Given the description of an element on the screen output the (x, y) to click on. 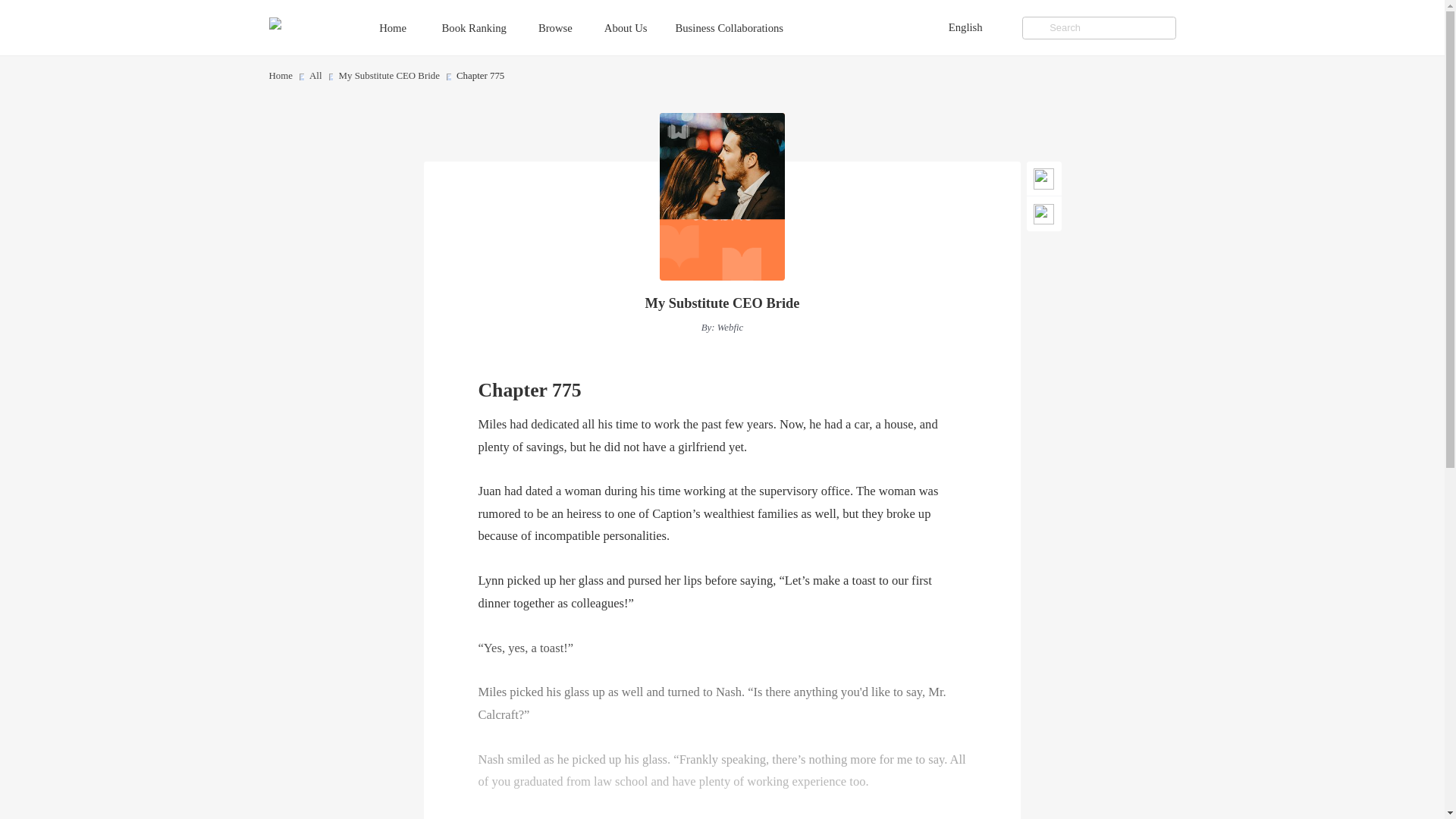
Book Ranking (488, 27)
My Substitute CEO Bride (722, 303)
Home (407, 27)
About Us (639, 27)
My Substitute CEO Bride (389, 76)
Home (279, 76)
Browse (569, 27)
Business Collaborations (742, 27)
